Given the description of an element on the screen output the (x, y) to click on. 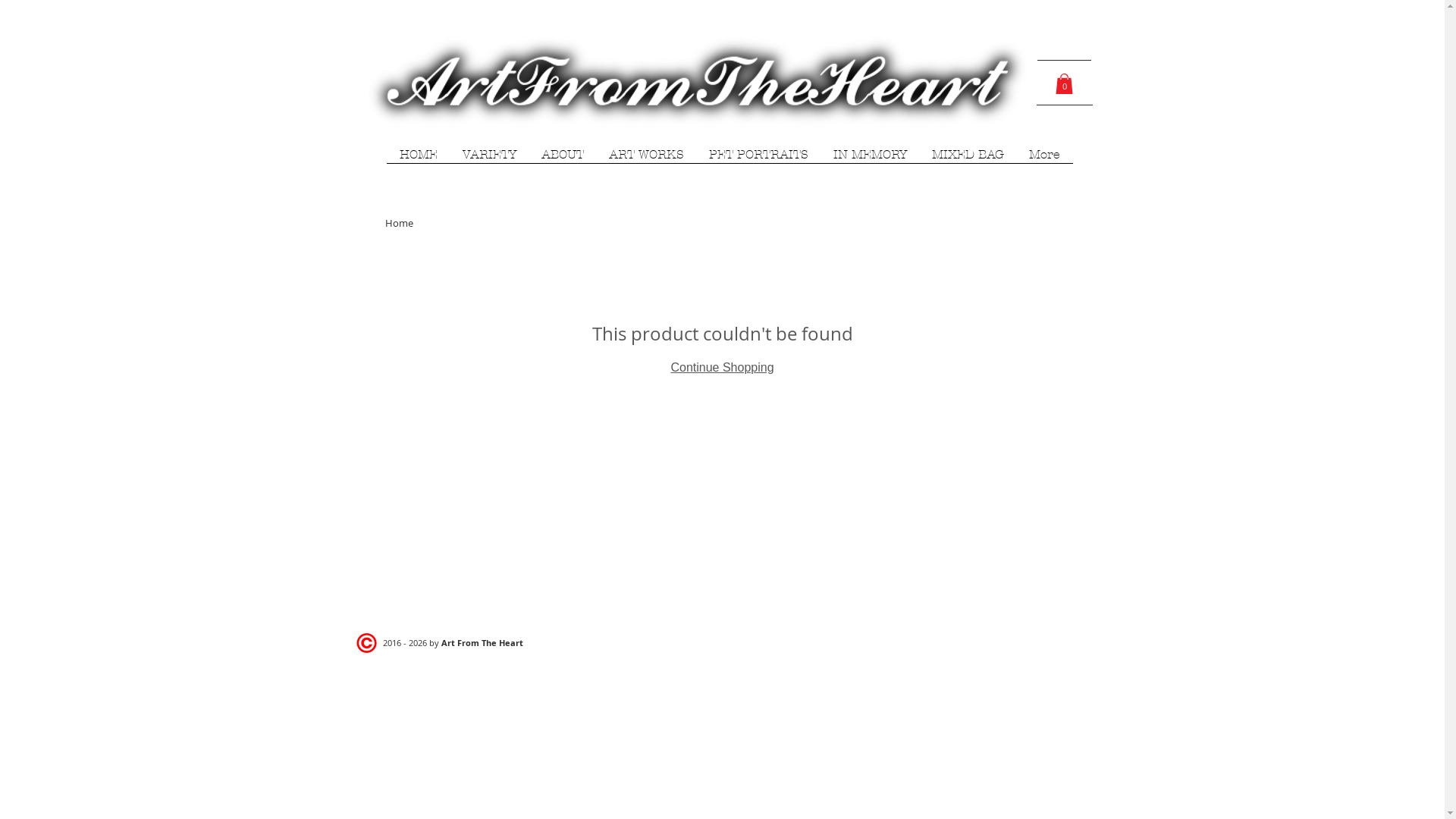
IN MEMORY Element type: text (869, 159)
Home Element type: text (399, 222)
HOME Element type: text (418, 159)
MIXED BAG Element type: text (967, 159)
Continue Shopping Element type: text (721, 366)
ART WORKS Element type: text (646, 159)
PET PORTRAITS Element type: text (758, 159)
ABOUT Element type: text (562, 159)
0 Element type: text (1064, 83)
VARIETY Element type: text (489, 159)
